Given the description of an element on the screen output the (x, y) to click on. 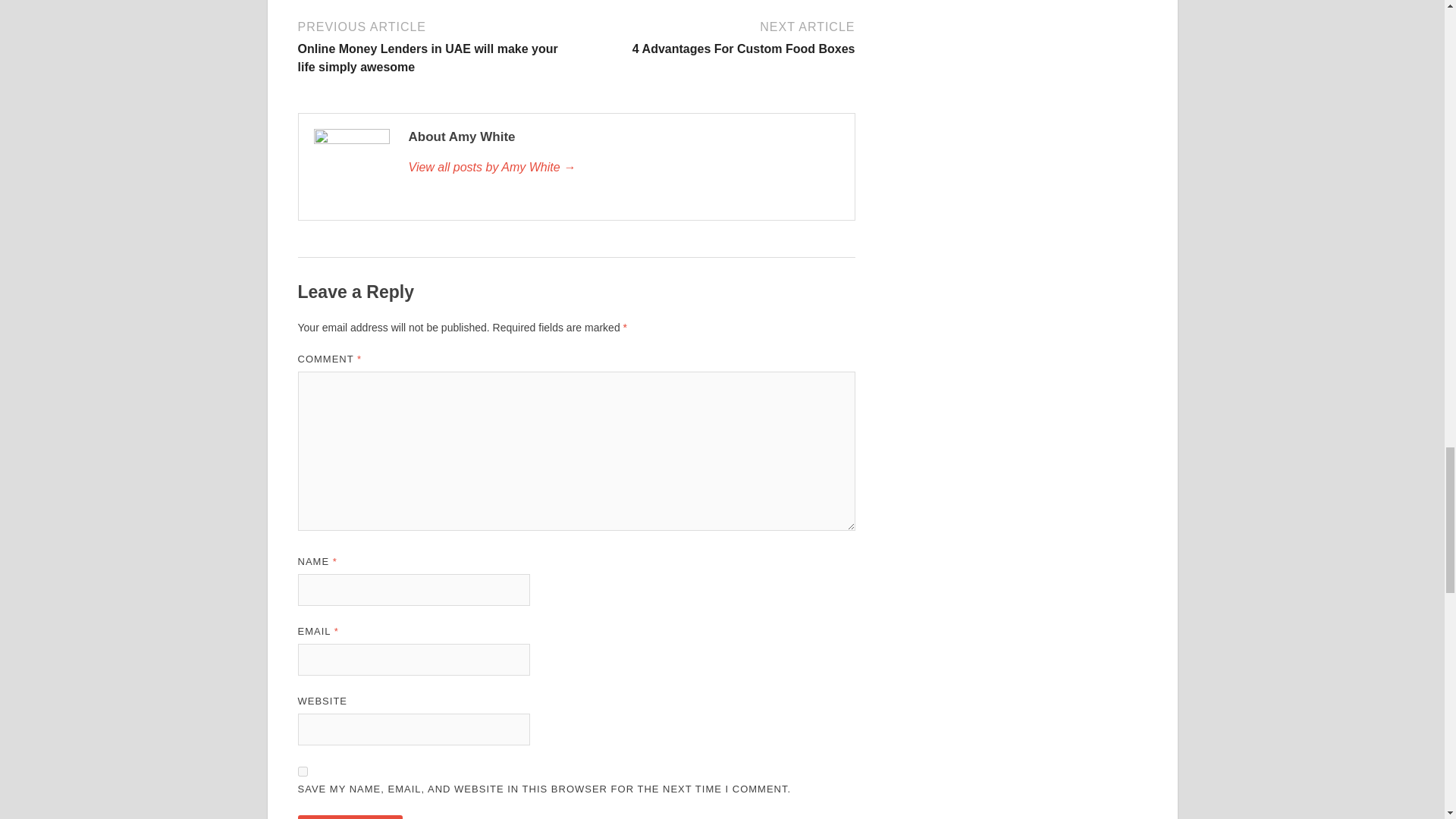
Post Comment (349, 816)
Amy White (622, 167)
yes (302, 771)
